Given the description of an element on the screen output the (x, y) to click on. 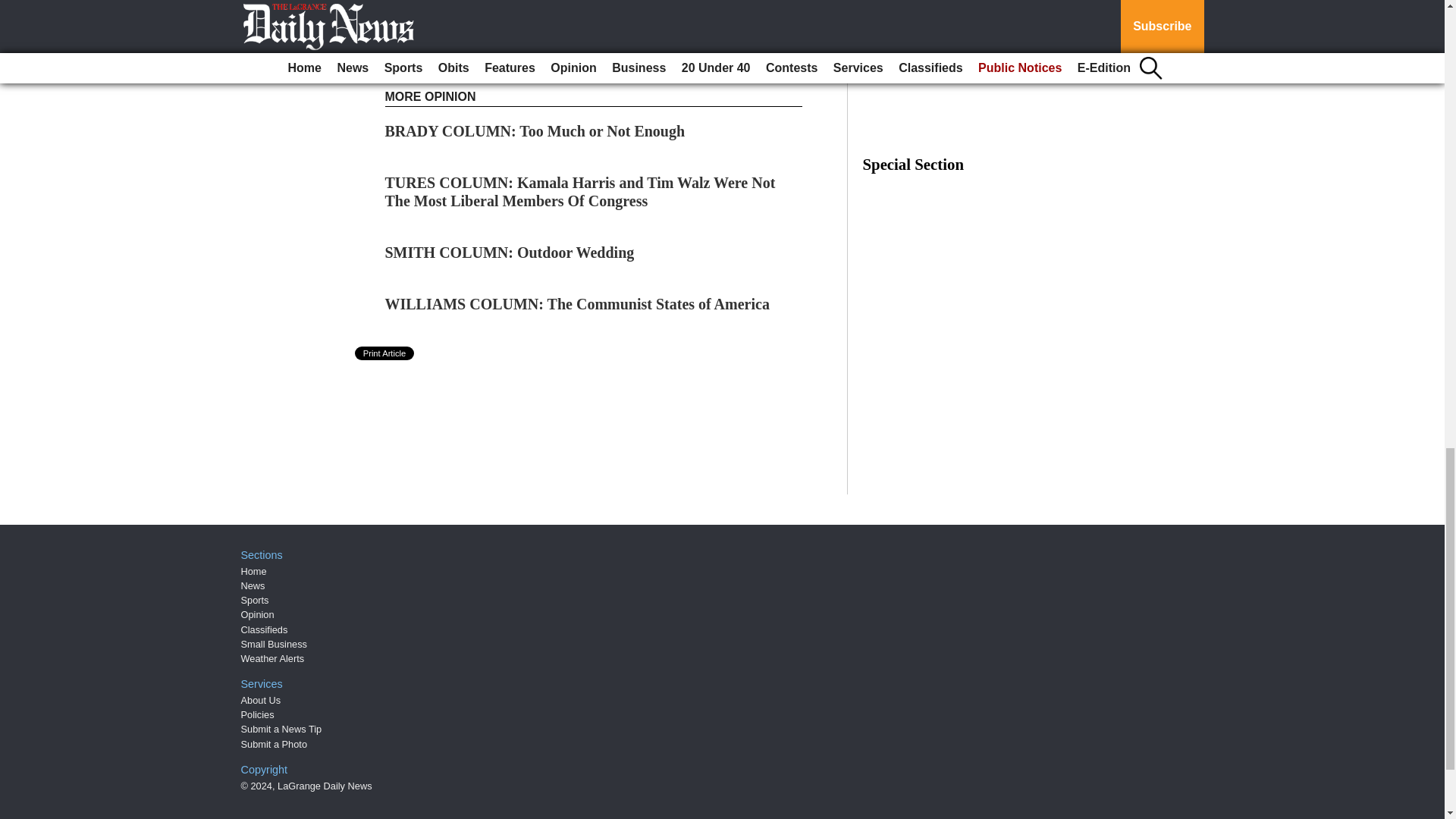
Home (253, 571)
WILLIAMS COLUMN: The Communist States of America (577, 303)
WILLIAMS COLUMN: The Communist States of America (577, 303)
SMITH COLUMN: Outdoor Wedding (509, 252)
News (252, 585)
SMITH COLUMN: Outdoor Wedding (509, 252)
BRADY COLUMN: Too Much or Not Enough (535, 130)
Opinion (258, 614)
Sports (255, 600)
